Given the description of an element on the screen output the (x, y) to click on. 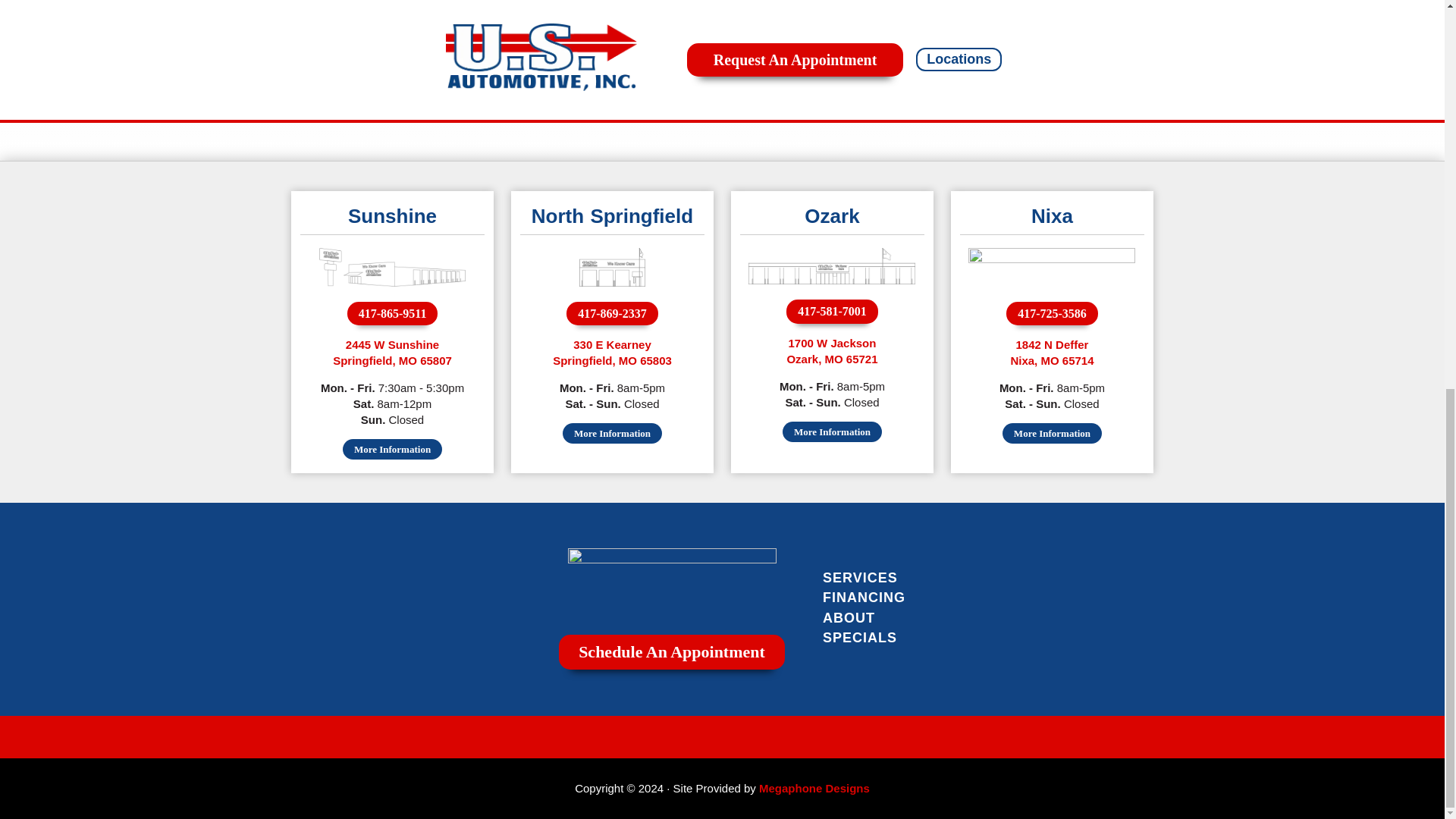
More Information (832, 432)
417-725-3586 (831, 350)
417-869-2337 (1051, 313)
417-581-7001 (612, 313)
More Information (831, 310)
417-865-9511 (392, 449)
Schedule An Appointment (392, 313)
